Given the description of an element on the screen output the (x, y) to click on. 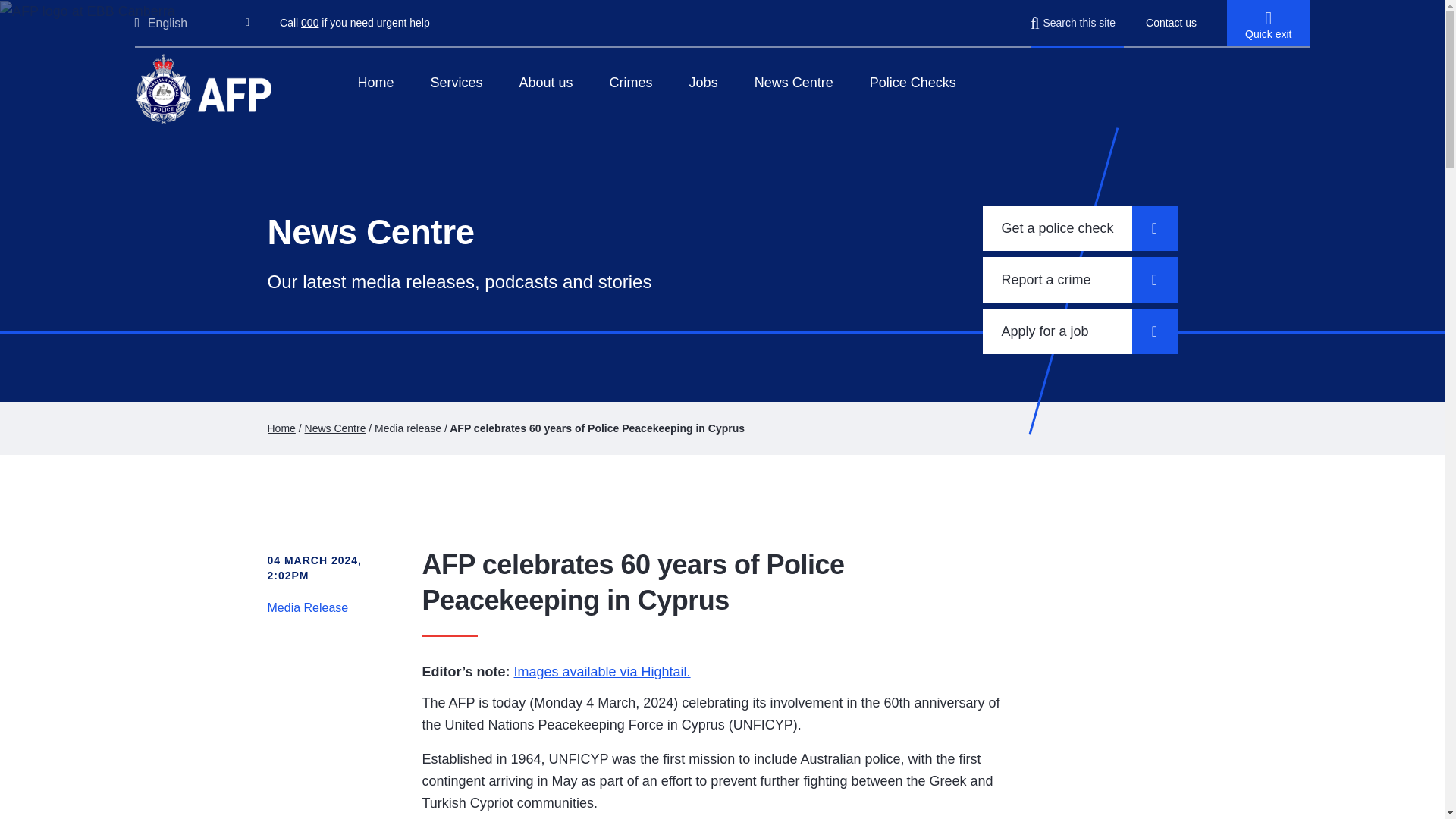
Jobs page (702, 82)
Contact us (1170, 22)
News Centre (335, 428)
Police checks page (912, 82)
About us (546, 82)
Apply for a job (1079, 330)
Jobs (702, 82)
Crimes (631, 82)
About page (546, 82)
Report a crime (1079, 279)
